Given the description of an element on the screen output the (x, y) to click on. 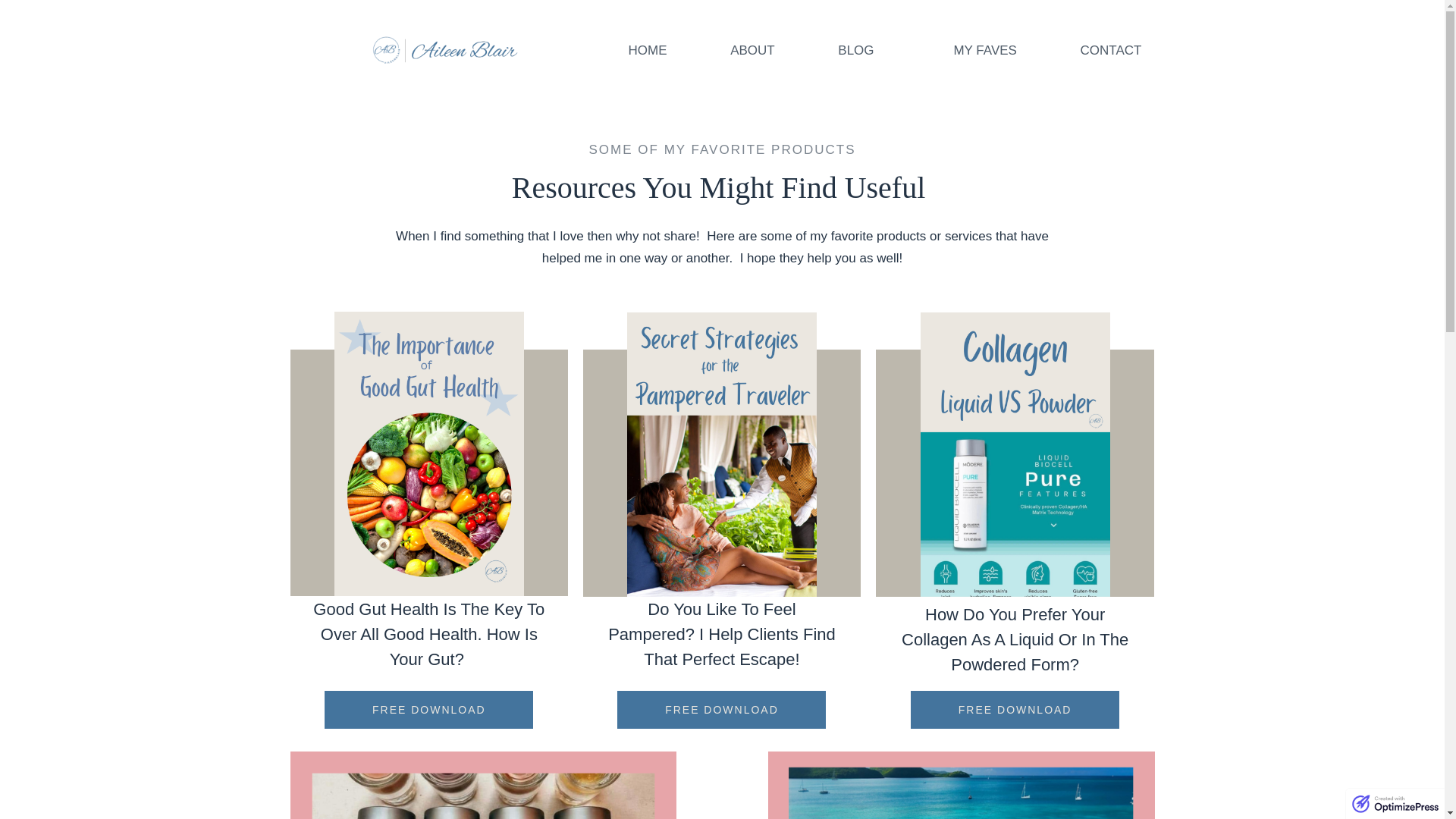
FREE DOWNLOAD (428, 709)
ABOUT (752, 50)
FREE DOWNLOAD (1015, 709)
Sandals Picture (961, 785)
Aileen Blair (444, 49)
FREE DOWNLOAD (721, 709)
HOME (647, 50)
BLOG (863, 50)
MY FAVES (984, 50)
CONTACT (1110, 50)
